Given the description of an element on the screen output the (x, y) to click on. 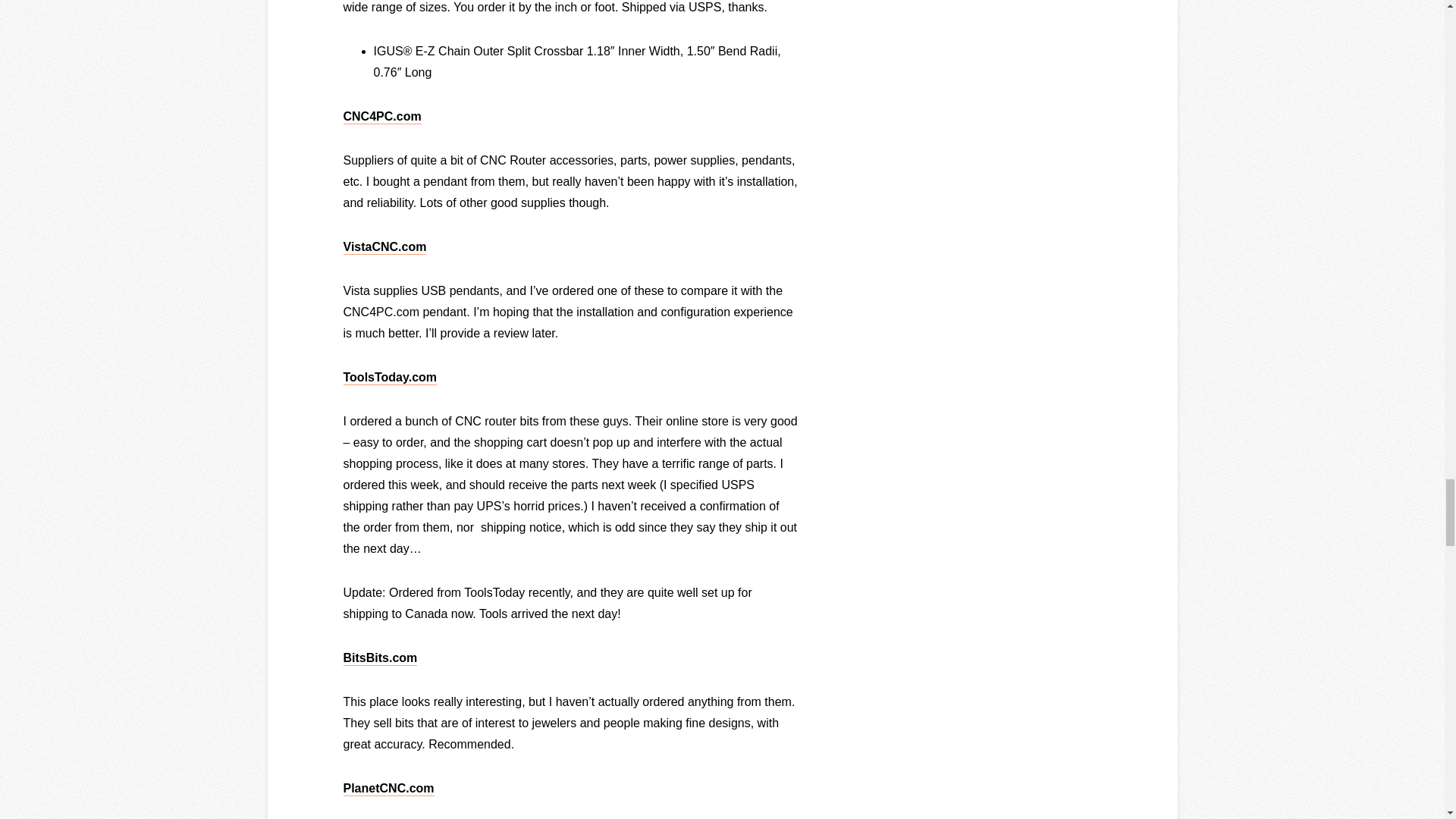
VistaCNC.com (384, 246)
BitsBits.com (379, 657)
CNC4PC.com (381, 115)
ToolsToday.com (389, 377)
PlanetCNC.com (387, 788)
